Given the description of an element on the screen output the (x, y) to click on. 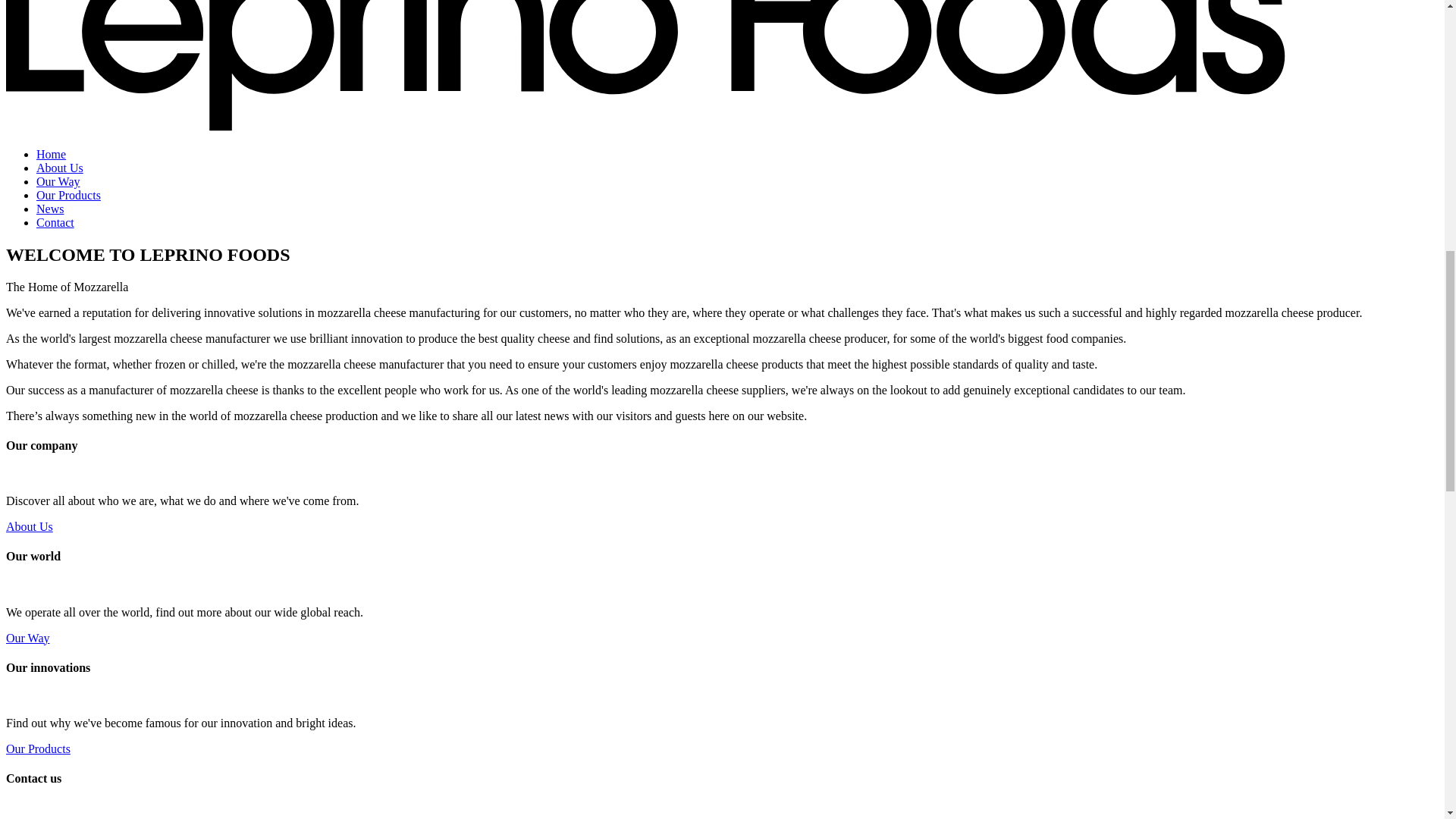
News (50, 208)
Home (50, 154)
Contact (55, 222)
About Us (59, 167)
Our Way (58, 181)
Our Products (68, 195)
About Us (28, 526)
Our Way (27, 637)
Our Products (37, 748)
